Given the description of an element on the screen output the (x, y) to click on. 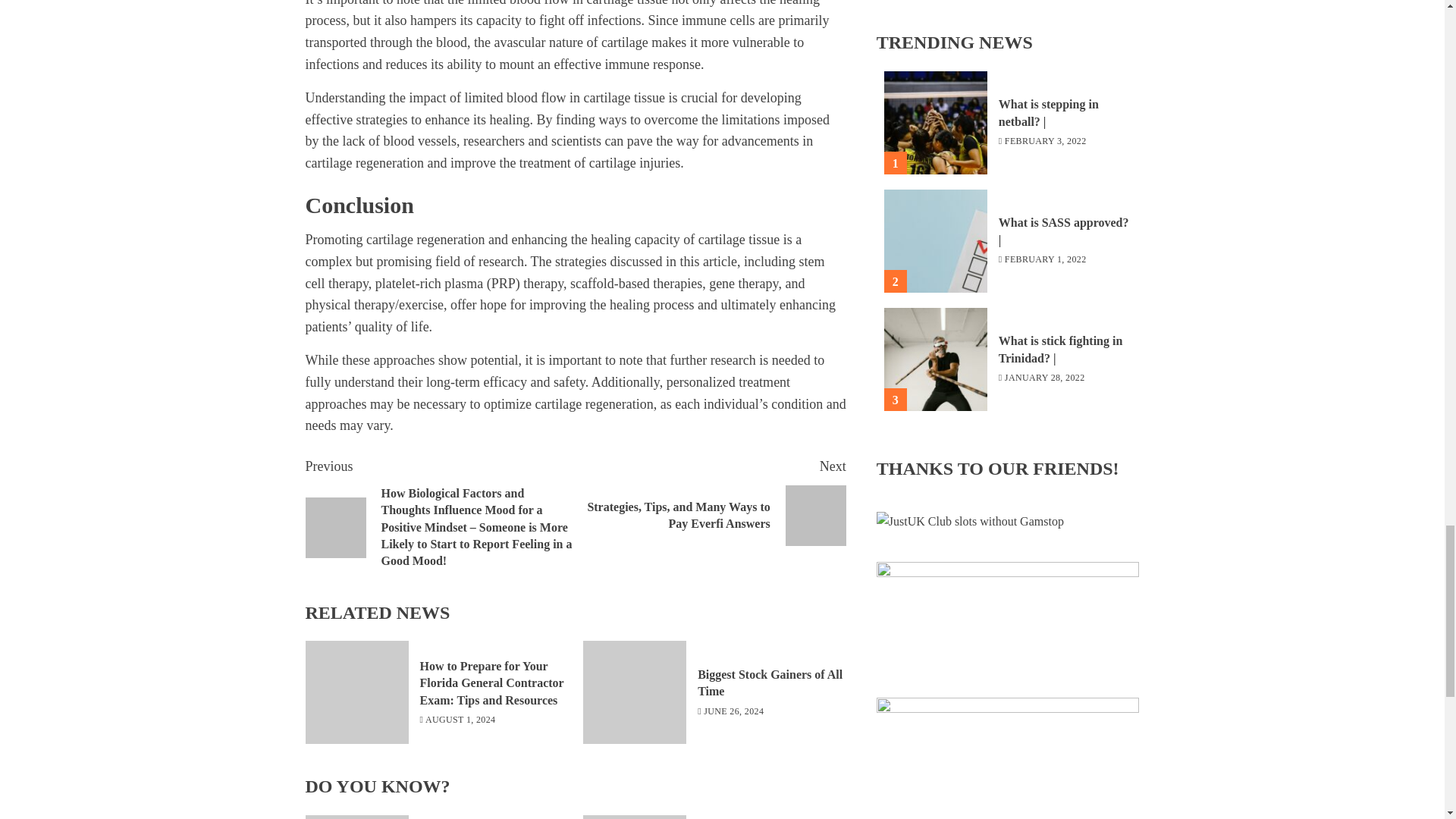
Biggest Stock Gainers of All Time (634, 691)
The Future of Apple Under Tim Cook (710, 500)
The ThredUp Shopping Experience (634, 816)
Biggest Stock Gainers of All Time (355, 816)
